Given the description of an element on the screen output the (x, y) to click on. 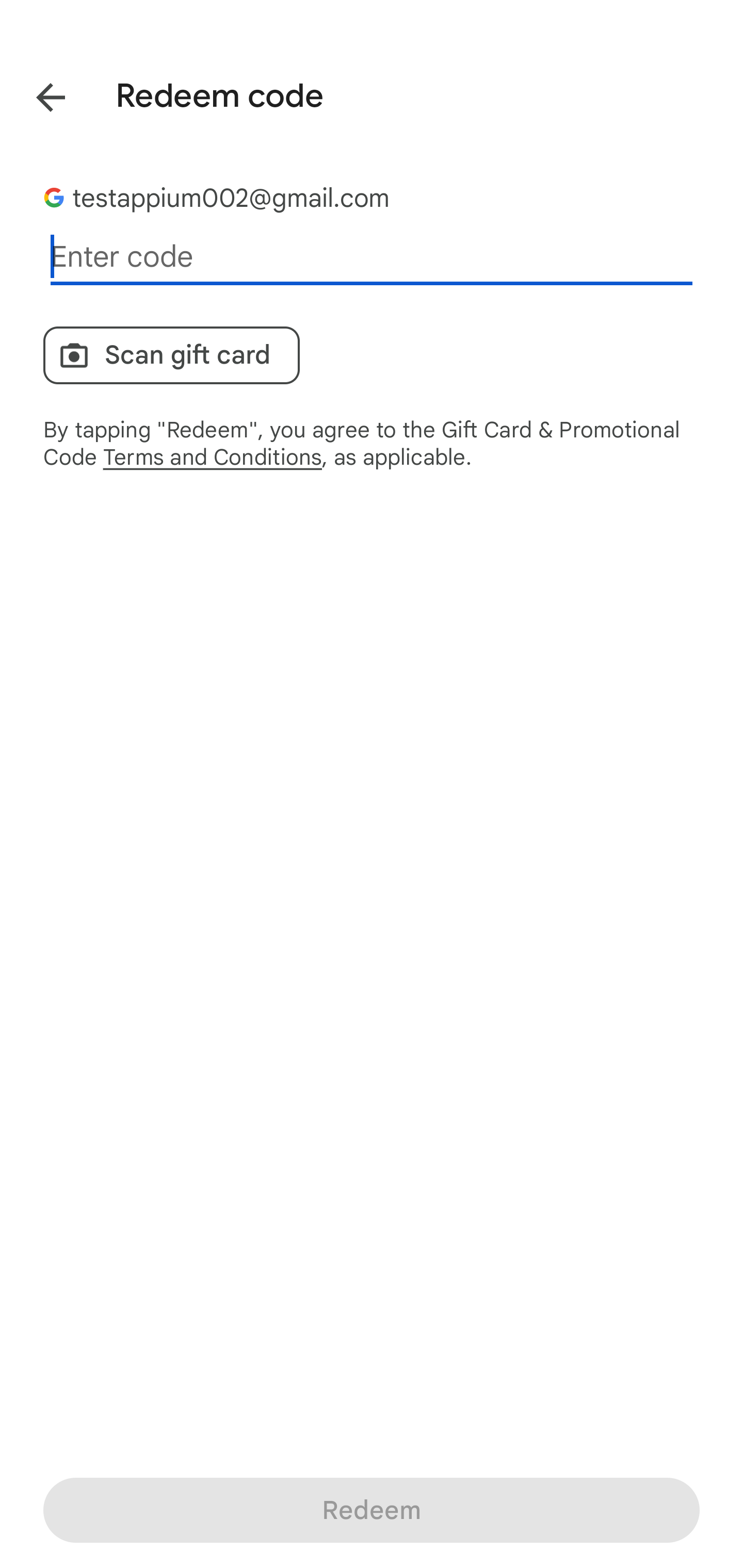
Back (36, 94)
Enter code (371, 256)
Scan gift card (171, 355)
